Given the description of an element on the screen output the (x, y) to click on. 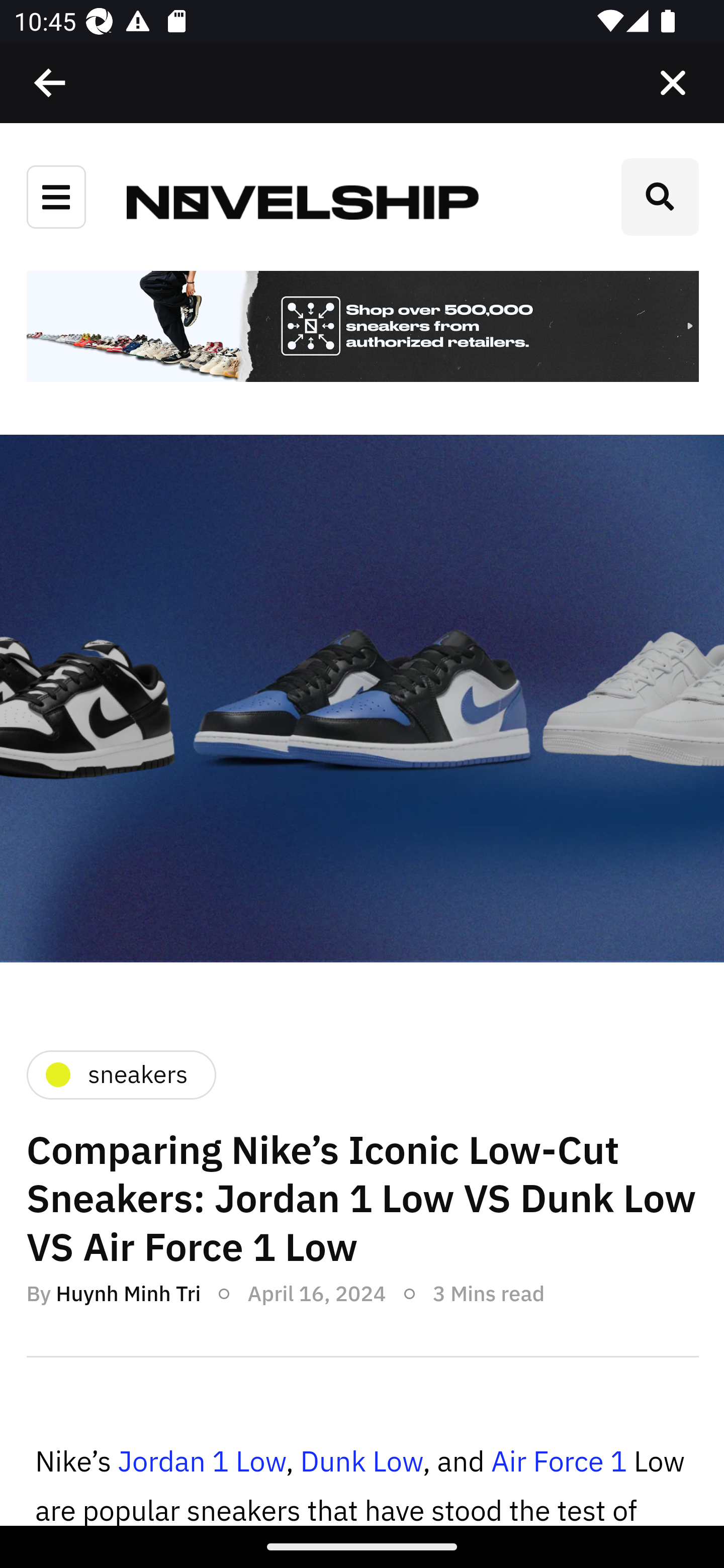
 (50, 83)
 (672, 83)
Search toggle (659, 196)
Novelship News (303, 201)
sneakers?utm_source=blog&utm_medium=banner (362, 327)
sneakers (120, 1074)
Huynh Minh Tri (127, 1293)
Jordan 1 Low (200, 1461)
Dunk Low (361, 1461)
Air Force 1 (558, 1461)
